Given the description of an element on the screen output the (x, y) to click on. 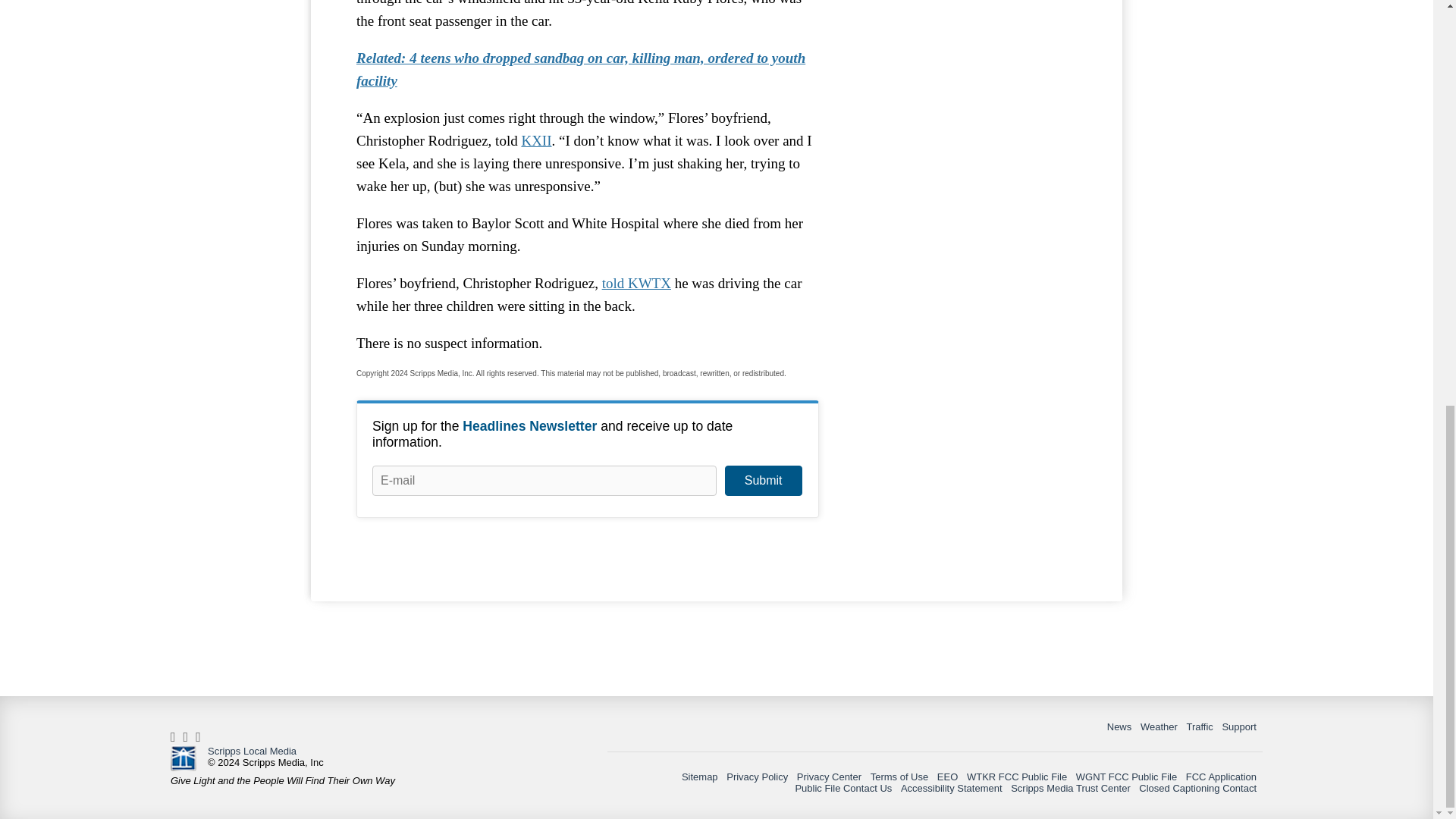
Submit (763, 481)
